Given the description of an element on the screen output the (x, y) to click on. 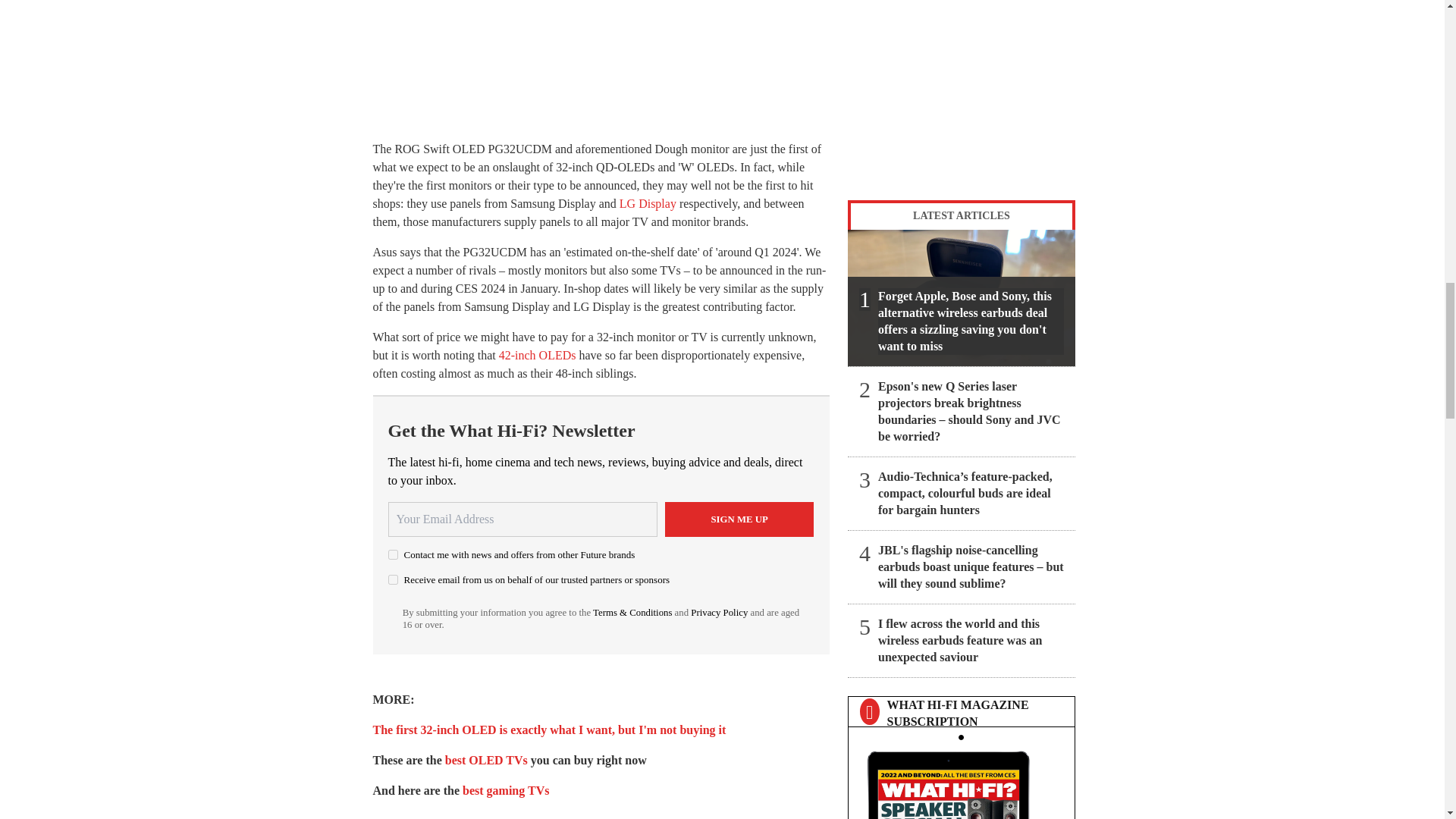
What Hi-Fi Magazine... (960, 780)
on (392, 554)
on (392, 579)
Sign me up (739, 519)
